Given the description of an element on the screen output the (x, y) to click on. 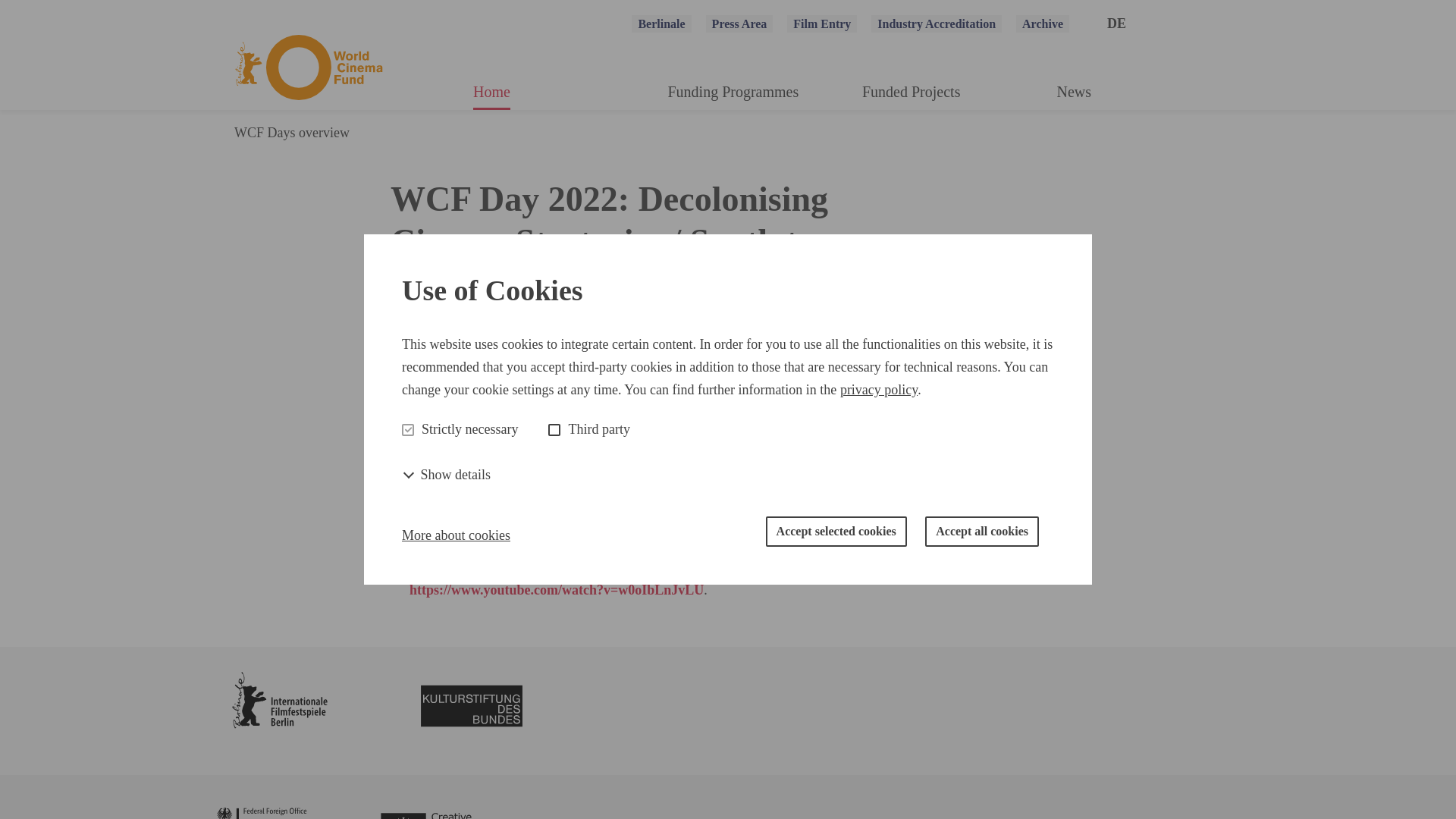
Archive (1042, 23)
Film Entry (822, 23)
Berlinale (660, 23)
WCF Days overview (282, 132)
Press Area (739, 23)
Film Entry (822, 23)
Login (721, 247)
World Cinema Fund (308, 71)
Funding Programmes (731, 95)
Archive (1042, 23)
